Given the description of an element on the screen output the (x, y) to click on. 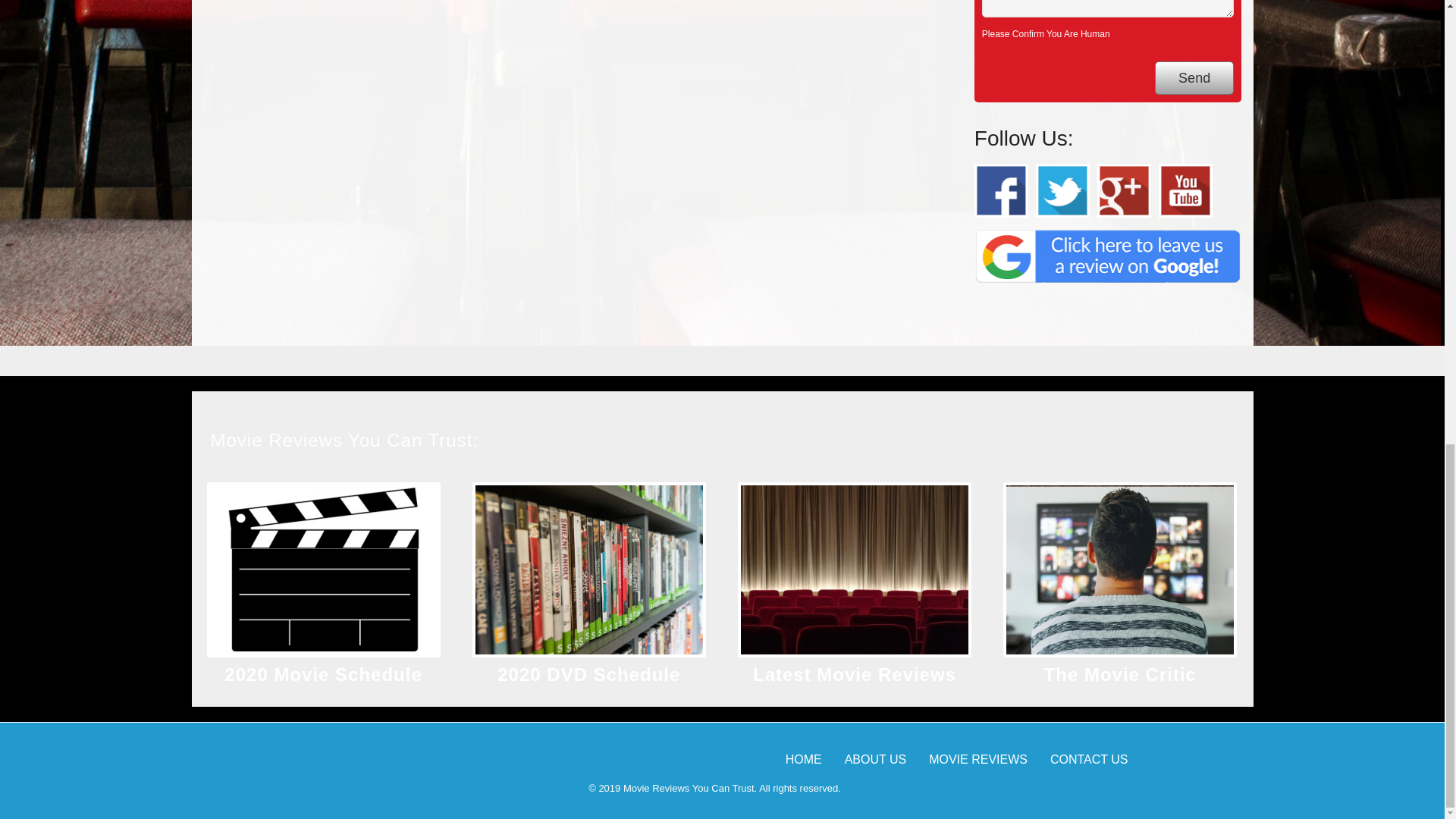
2020 Movie Schedule (323, 674)
Latest Movie Reviews (854, 674)
Send (1193, 78)
ABOUT US (875, 758)
2020 DVD Schedule (588, 674)
MOVIE REVIEWS (977, 758)
HOME (804, 758)
CONTACT US (1088, 758)
Send (1193, 78)
The Movie Critic (1119, 674)
